Given the description of an element on the screen output the (x, y) to click on. 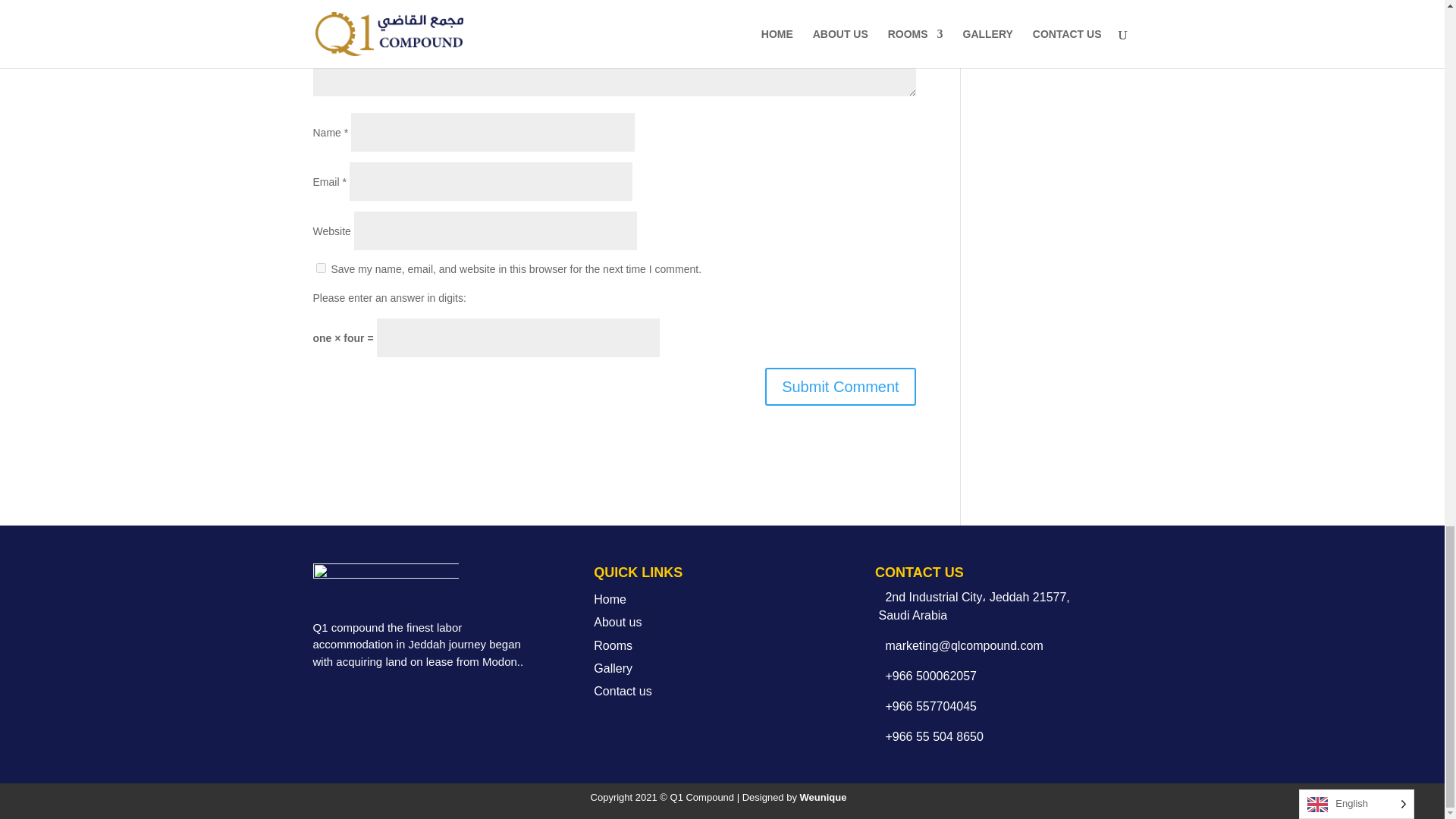
Official-png-2White (385, 585)
Home (610, 599)
About us (618, 621)
Gallery (612, 667)
Contact us (622, 690)
yes (319, 267)
Weunique (823, 797)
Submit Comment (840, 386)
Rooms (612, 645)
Submit Comment (840, 386)
